Given the description of an element on the screen output the (x, y) to click on. 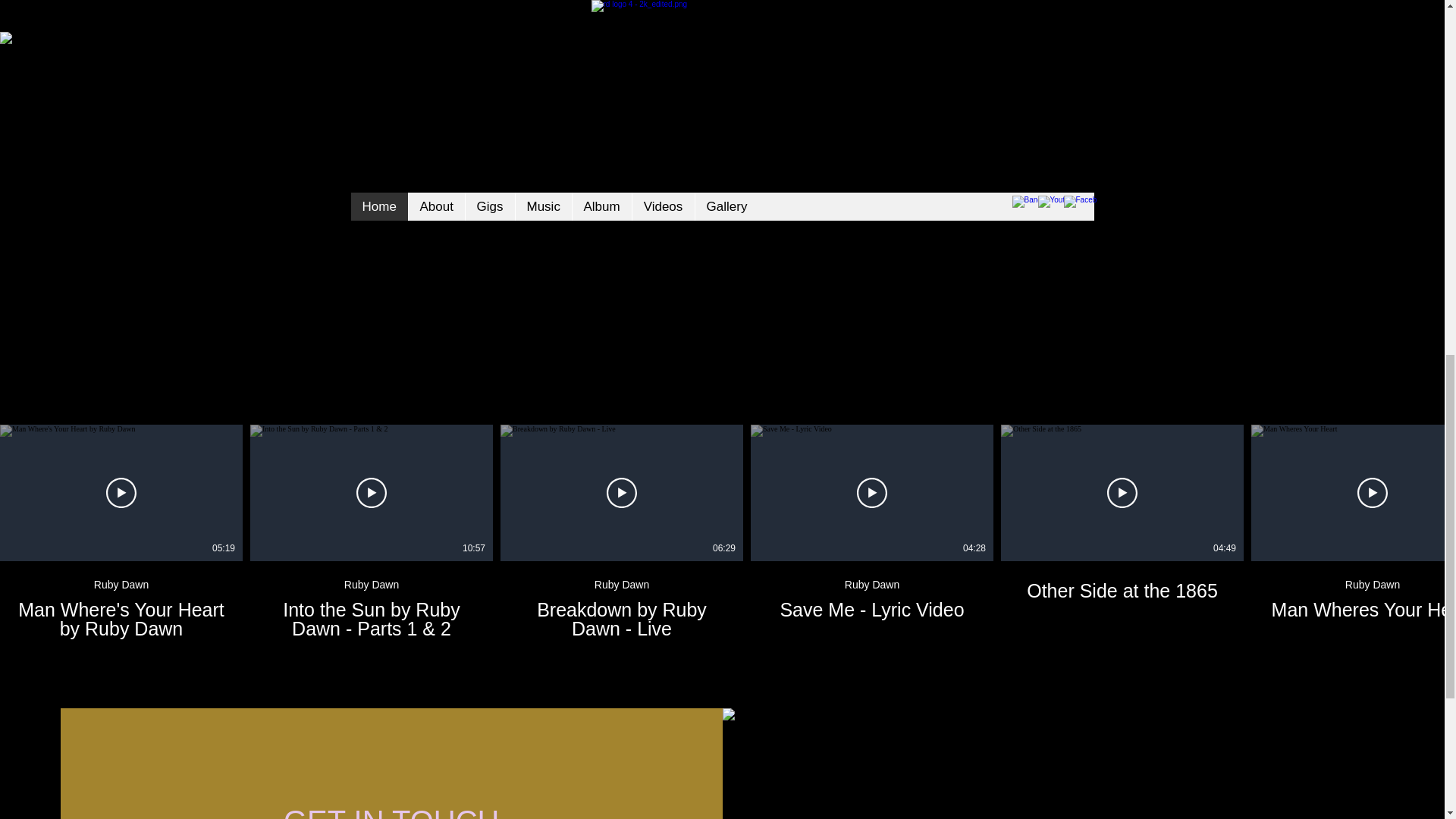
Other Side at the 1865 (871, 590)
Man Where's Your Heart by Ruby Dawn (1122, 590)
Other Side at the 1865 (621, 600)
Save Me - Lyric Video (120, 618)
Breakdown by Ruby Dawn - Live (121, 600)
